Given the description of an element on the screen output the (x, y) to click on. 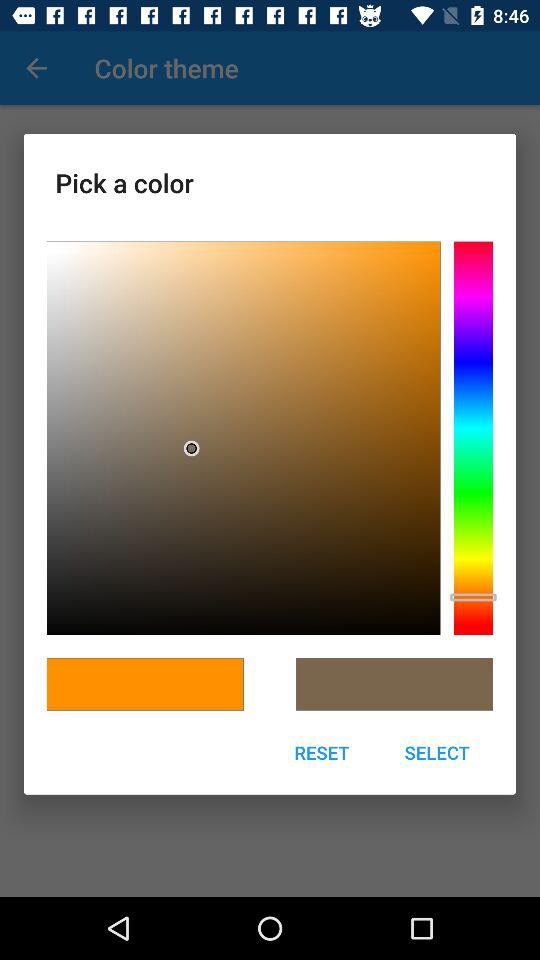
tap the item next to the reset (437, 752)
